Given the description of an element on the screen output the (x, y) to click on. 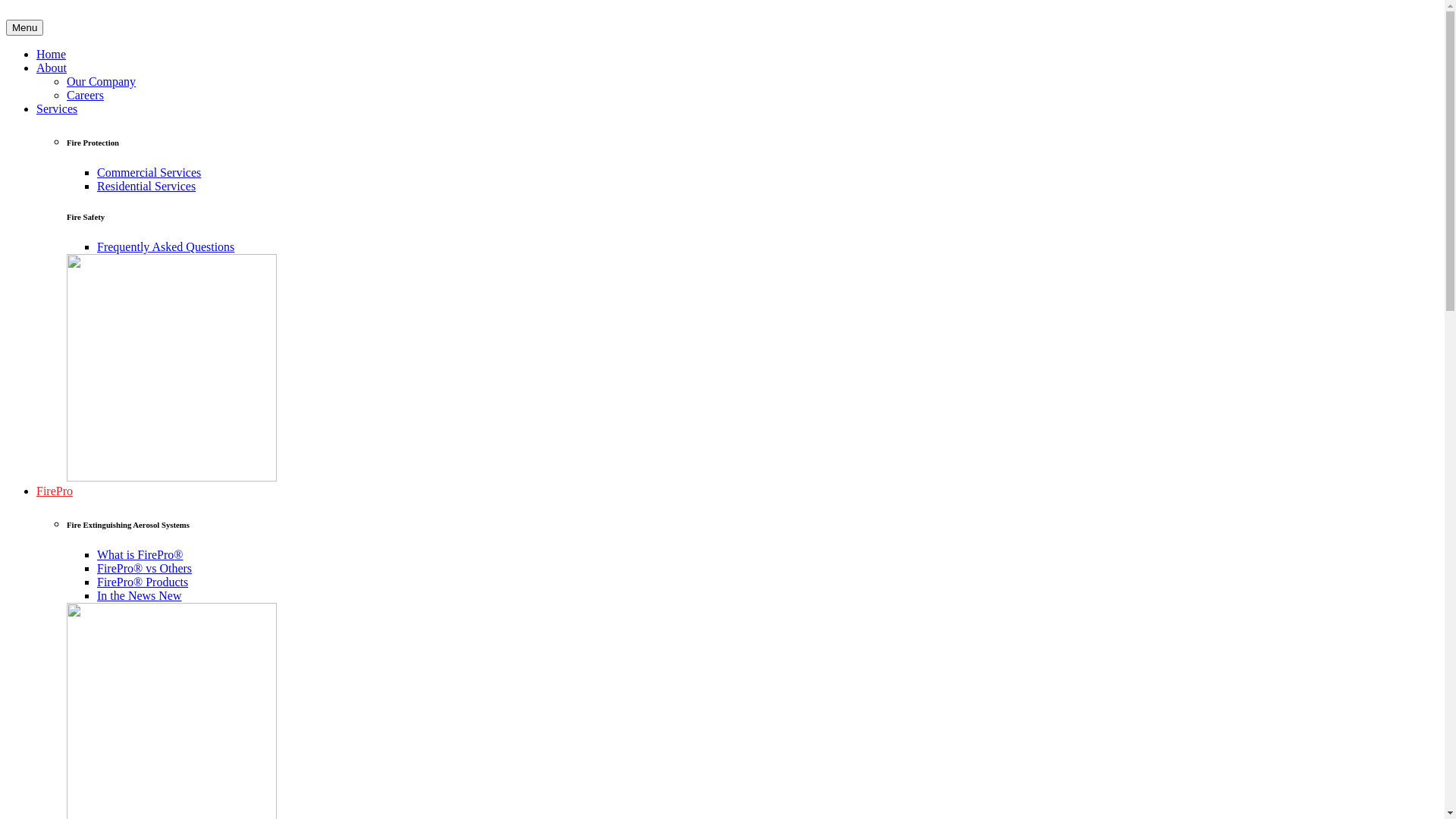
Careers Element type: text (84, 94)
Services Element type: text (56, 108)
Commercial Services Element type: text (148, 172)
Residential Services Element type: text (146, 185)
Our Company Element type: text (100, 81)
About Element type: text (51, 67)
FirePro Element type: text (54, 490)
In the News New Element type: text (139, 595)
Menu Element type: text (24, 27)
Home Element type: text (50, 53)
Frequently Asked Questions Element type: text (165, 246)
